Given the description of an element on the screen output the (x, y) to click on. 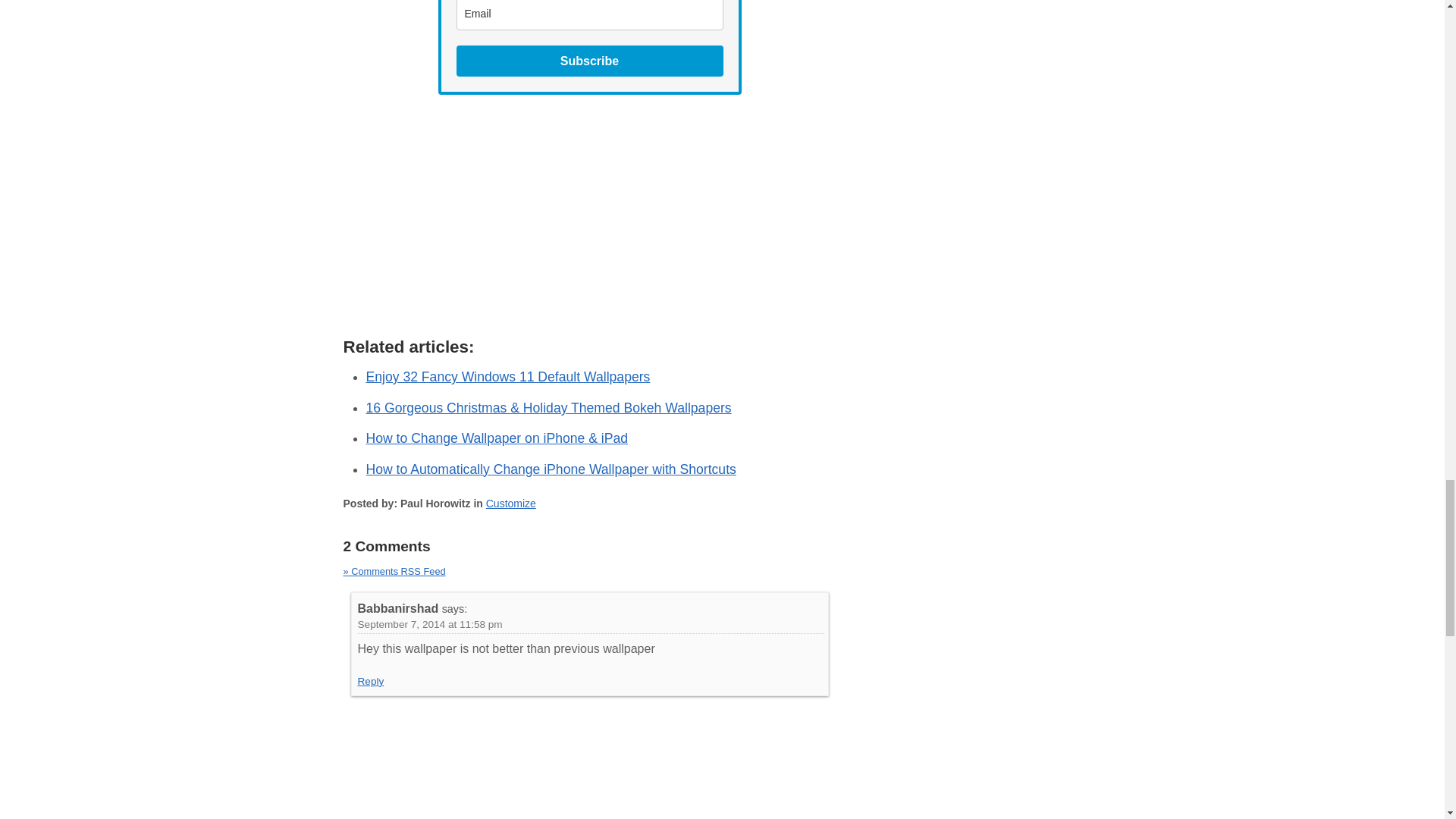
How to Automatically Change iPhone Wallpaper with Shortcuts (550, 468)
Customize (510, 503)
Subscribe (590, 60)
Enjoy 32 Fancy Windows 11 Default Wallpapers (507, 376)
